Given the description of an element on the screen output the (x, y) to click on. 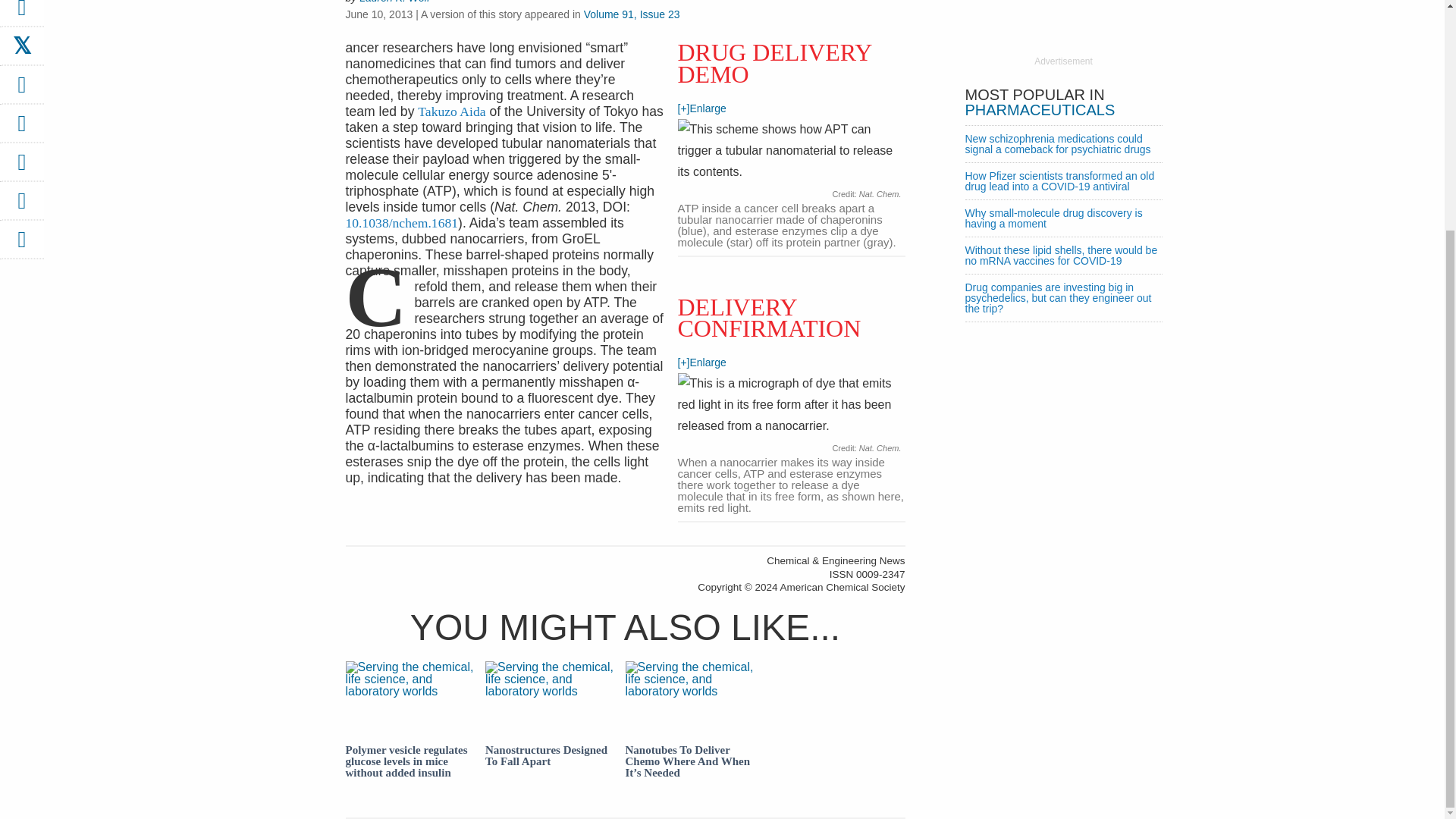
WeChat (21, 166)
Takuzo Aida (450, 111)
